Given the description of an element on the screen output the (x, y) to click on. 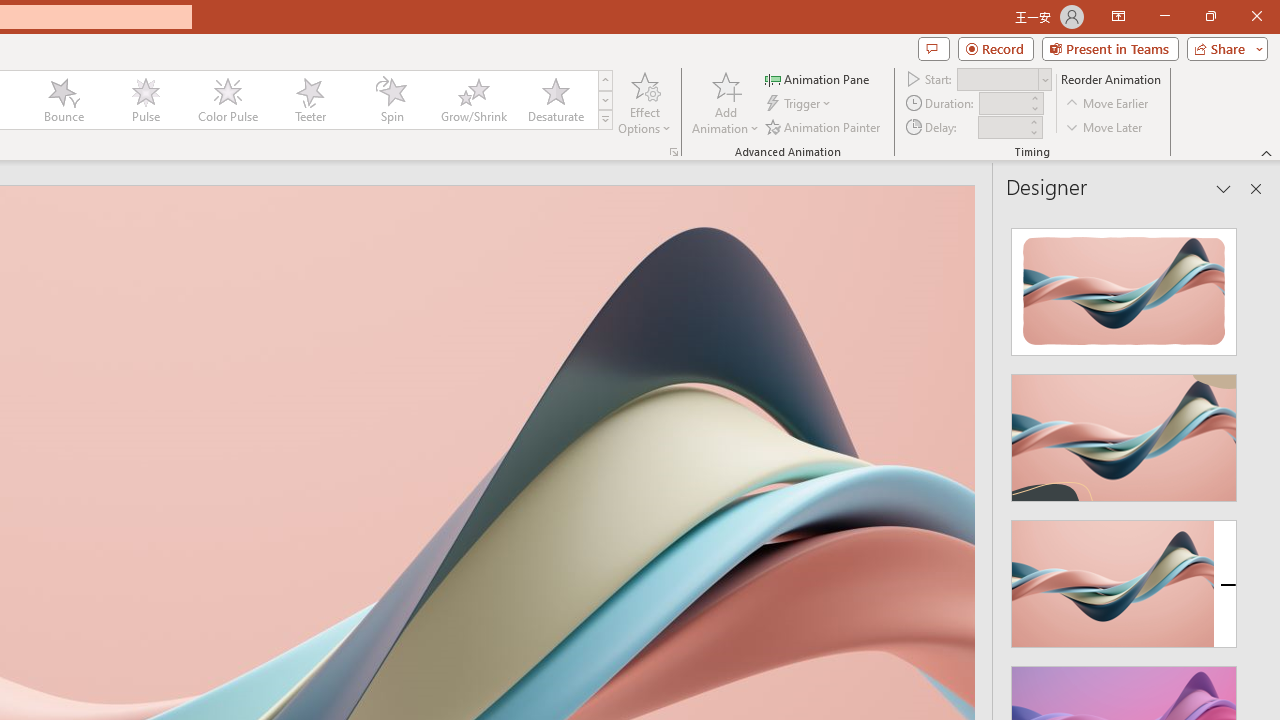
Move Later (1105, 126)
More Options... (673, 151)
Grow/Shrink (473, 100)
Color Pulse (227, 100)
